Given the description of an element on the screen output the (x, y) to click on. 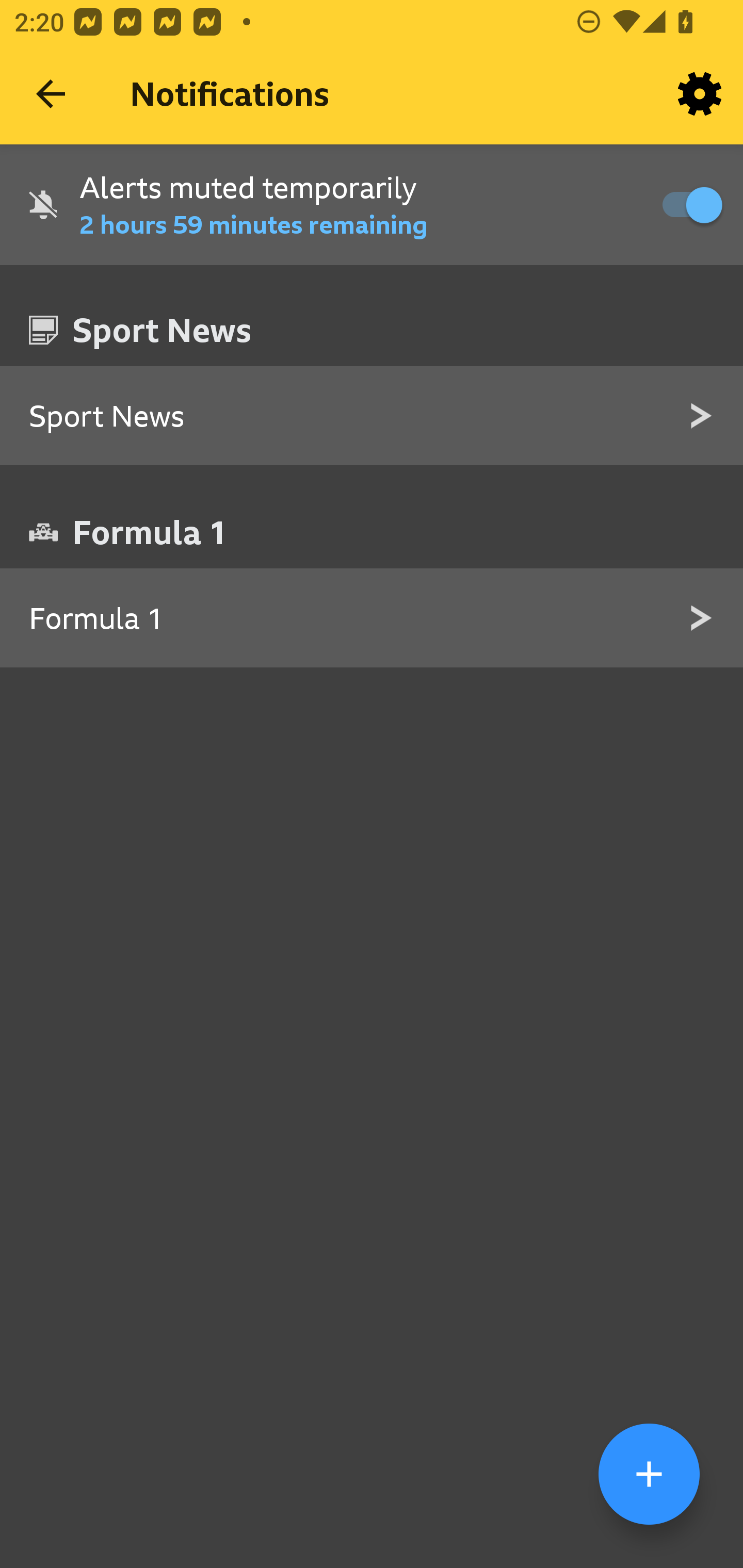
Navigate up (50, 93)
Settings (699, 93)
Sport News (371, 416)
Formula 1 (371, 618)
Add notifications (648, 1473)
